Given the description of an element on the screen output the (x, y) to click on. 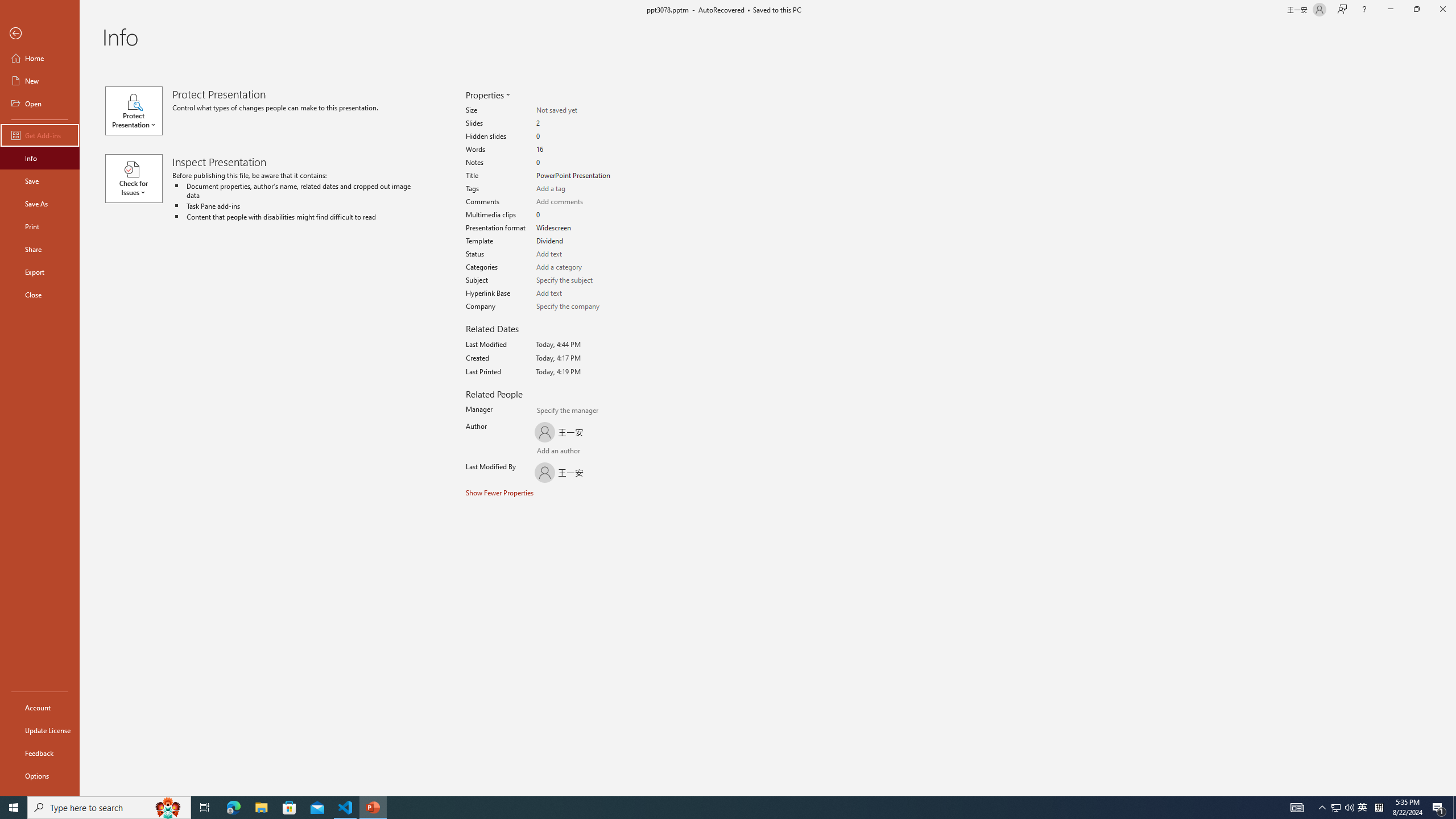
Info (40, 157)
Verify Names (559, 451)
